Given the description of an element on the screen output the (x, y) to click on. 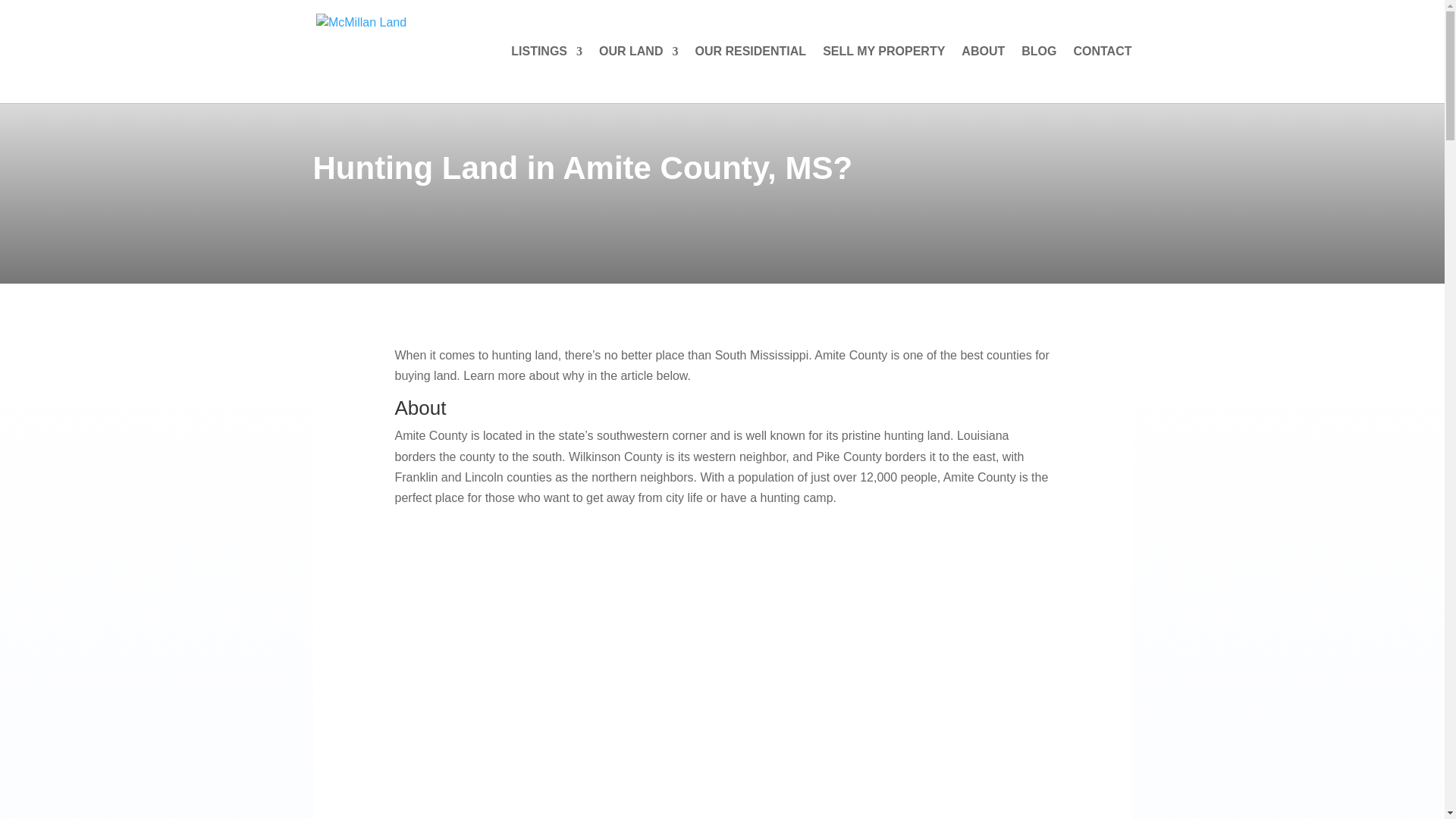
OUR LAND (638, 74)
OUR RESIDENTIAL (750, 74)
LISTINGS (546, 74)
BLOG (1039, 74)
SELL MY PROPERTY (883, 74)
CONTACT (1102, 74)
ABOUT (982, 74)
